Given the description of an element on the screen output the (x, y) to click on. 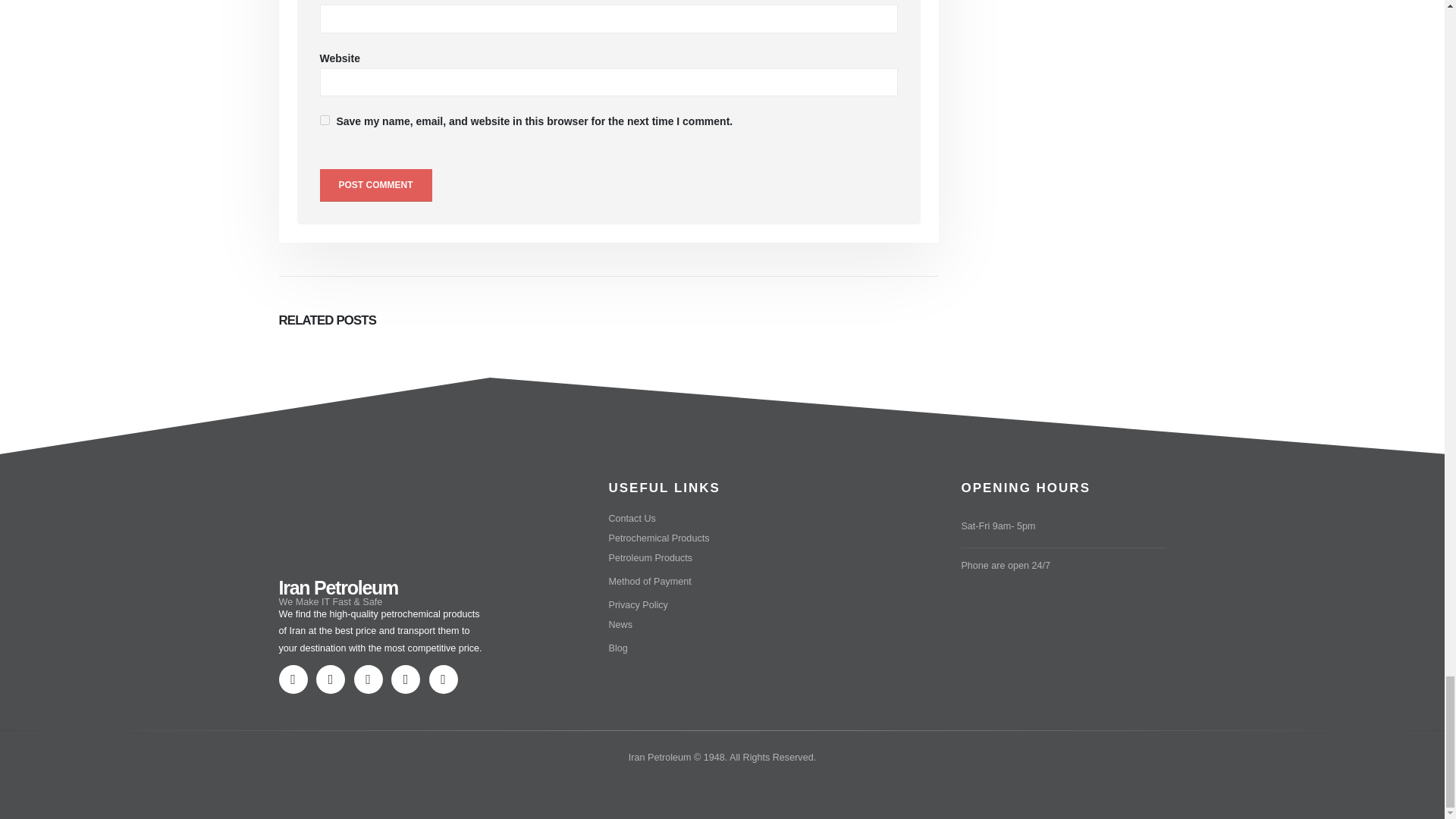
Twitter Iran Petroleum (370, 680)
iran petroleum (366, 514)
yes (325, 120)
Post Comment (376, 184)
Facebook Iran Petroleum (332, 680)
WhatsApp Number Iran Petroleum (296, 680)
